Given the description of an element on the screen output the (x, y) to click on. 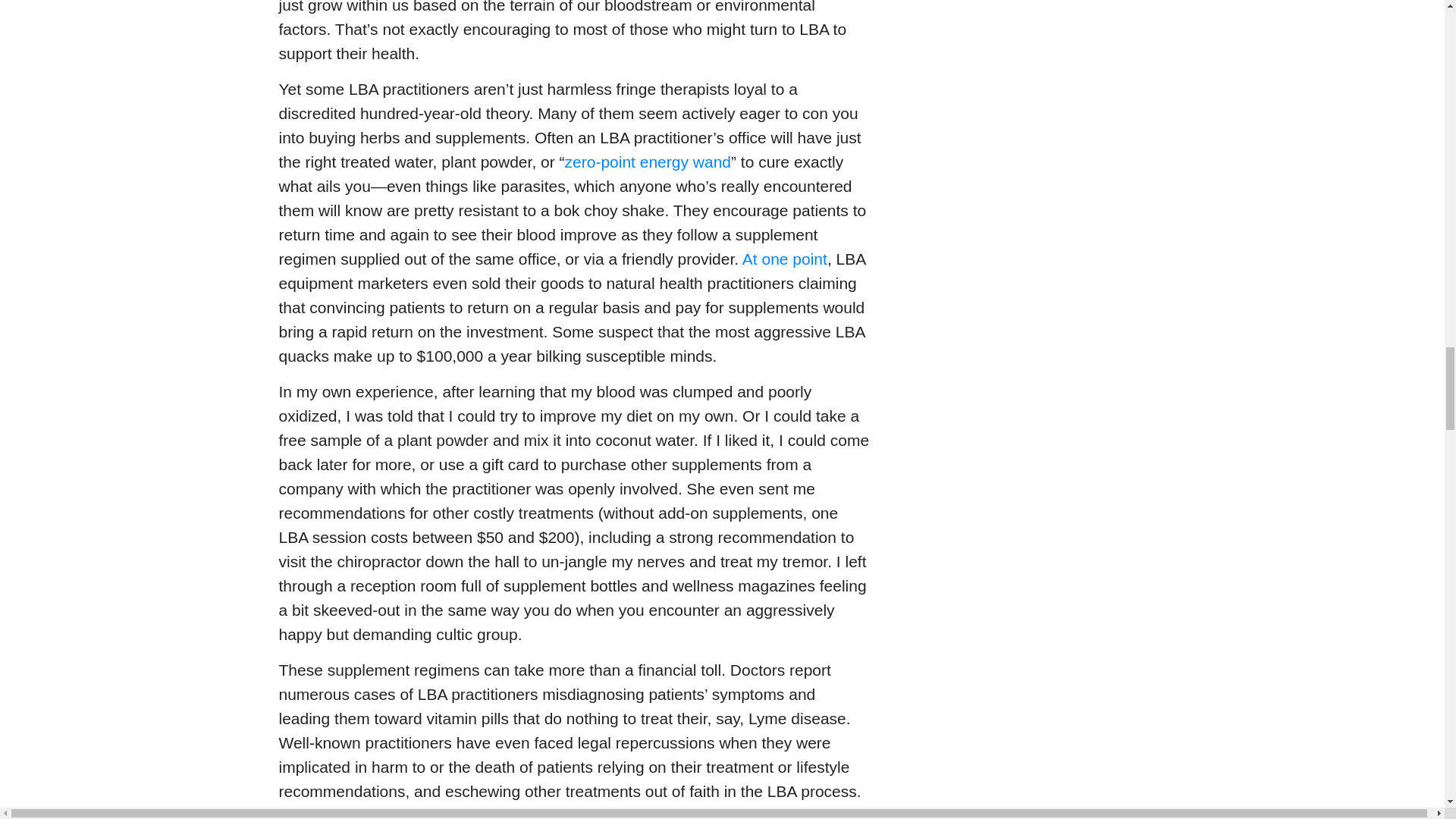
At one point (784, 258)
zero-point energy wand (647, 161)
